Given the description of an element on the screen output the (x, y) to click on. 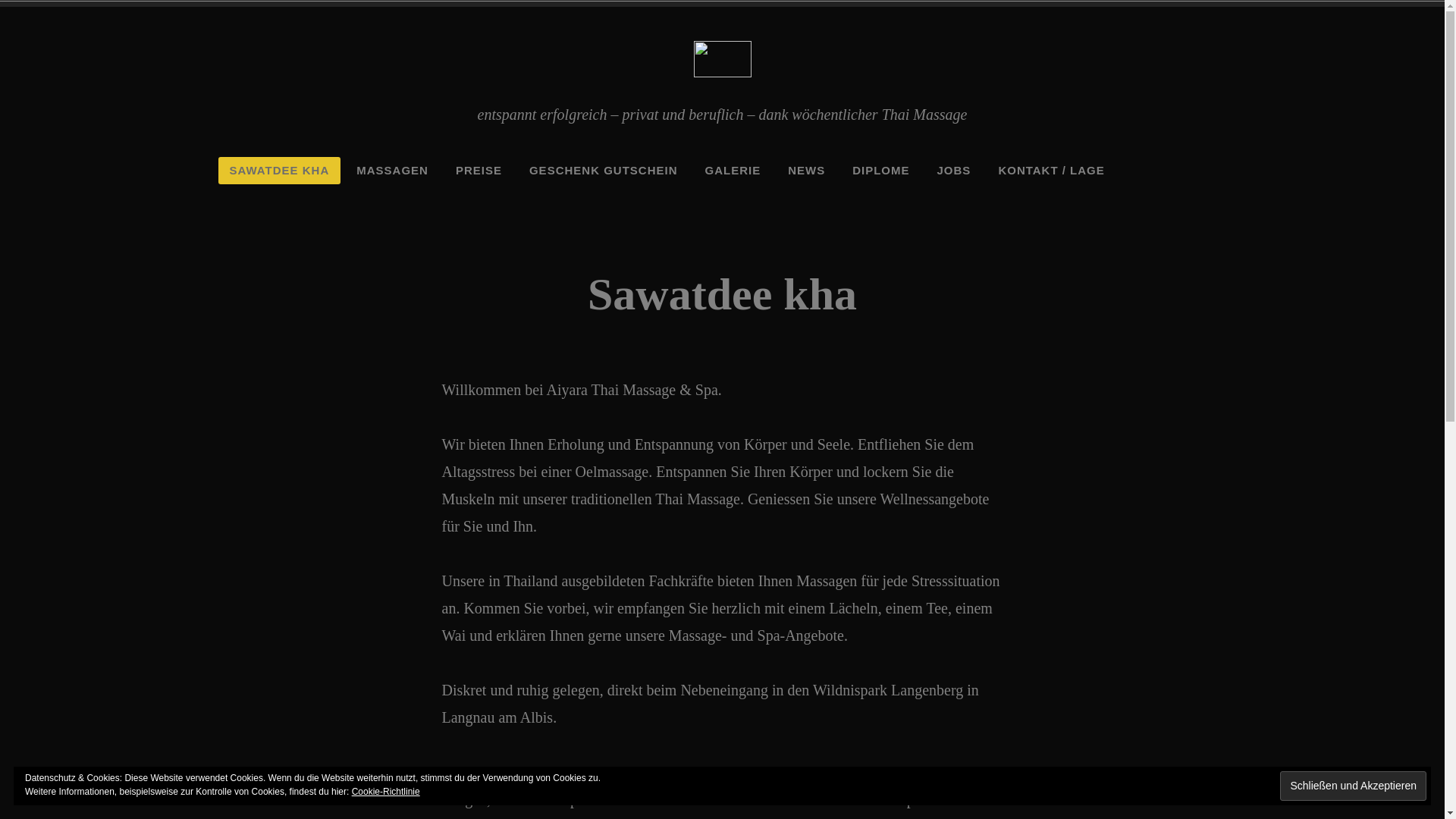
DIPLOME Element type: text (880, 170)
NEWS Element type: text (806, 170)
SAWATDEE KHA Element type: text (279, 170)
Cookie-Richtlinie Element type: text (385, 791)
KONTAKT / LAGE Element type: text (1050, 170)
GALERIE Element type: text (732, 170)
MASSAGEN Element type: text (392, 170)
JOBS Element type: text (953, 170)
GESCHENK GUTSCHEIN Element type: text (603, 170)
PREISE Element type: text (478, 170)
